Given the description of an element on the screen output the (x, y) to click on. 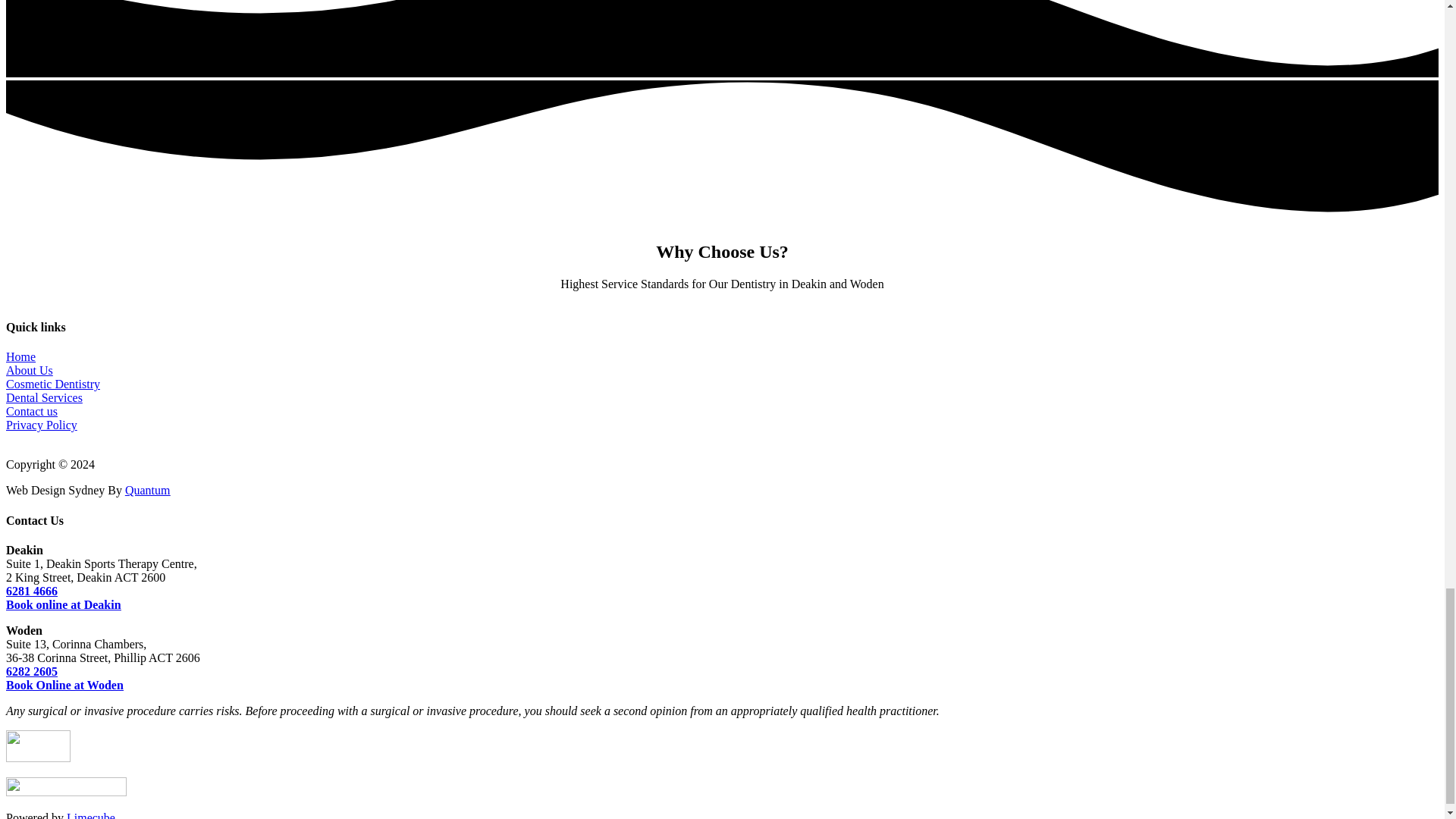
Privacy Policy (41, 424)
Contact us (31, 410)
Cosmetic Dentistry (52, 383)
About Us (28, 369)
Dental Services (43, 397)
Home (19, 356)
